Given the description of an element on the screen output the (x, y) to click on. 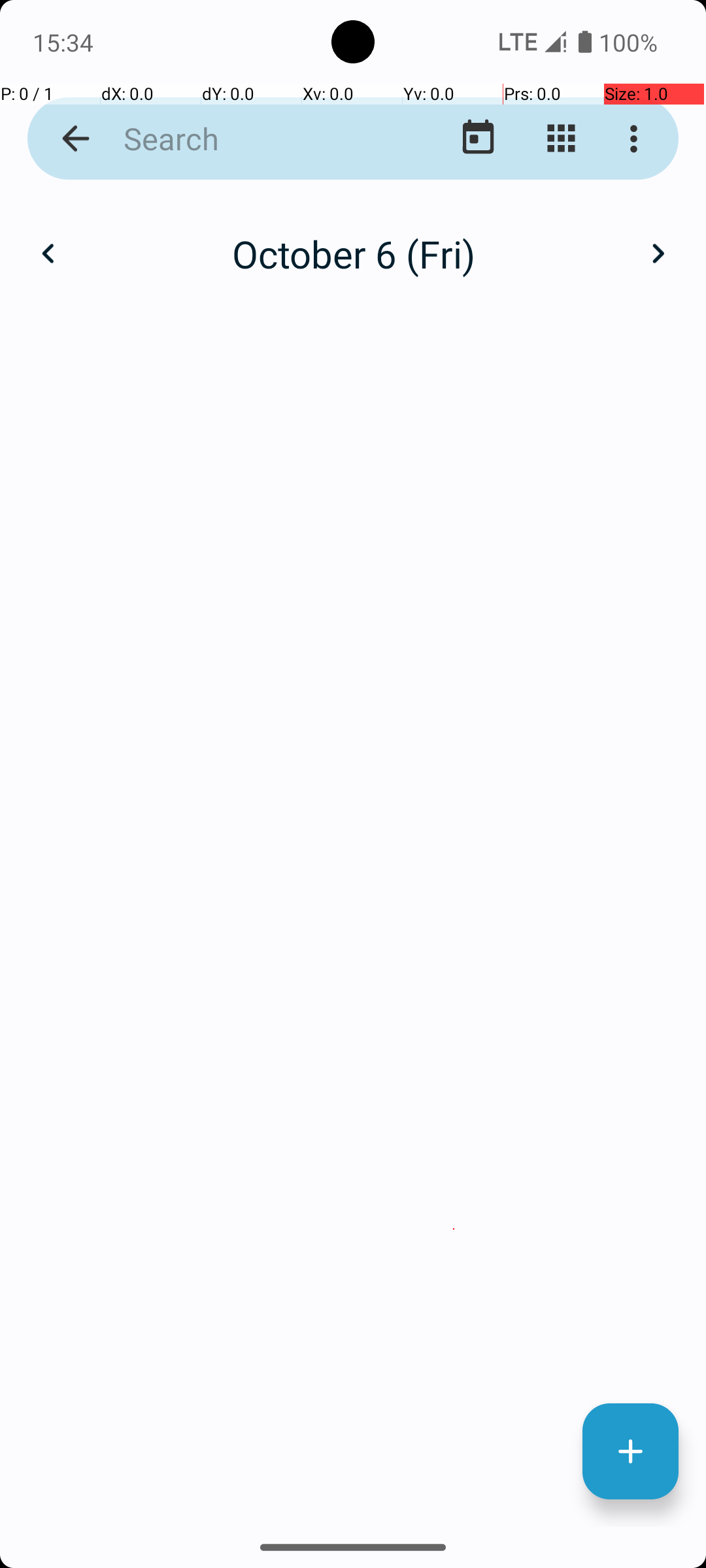
October 6 (Fri) Element type: android.widget.TextView (352, 253)
